Given the description of an element on the screen output the (x, y) to click on. 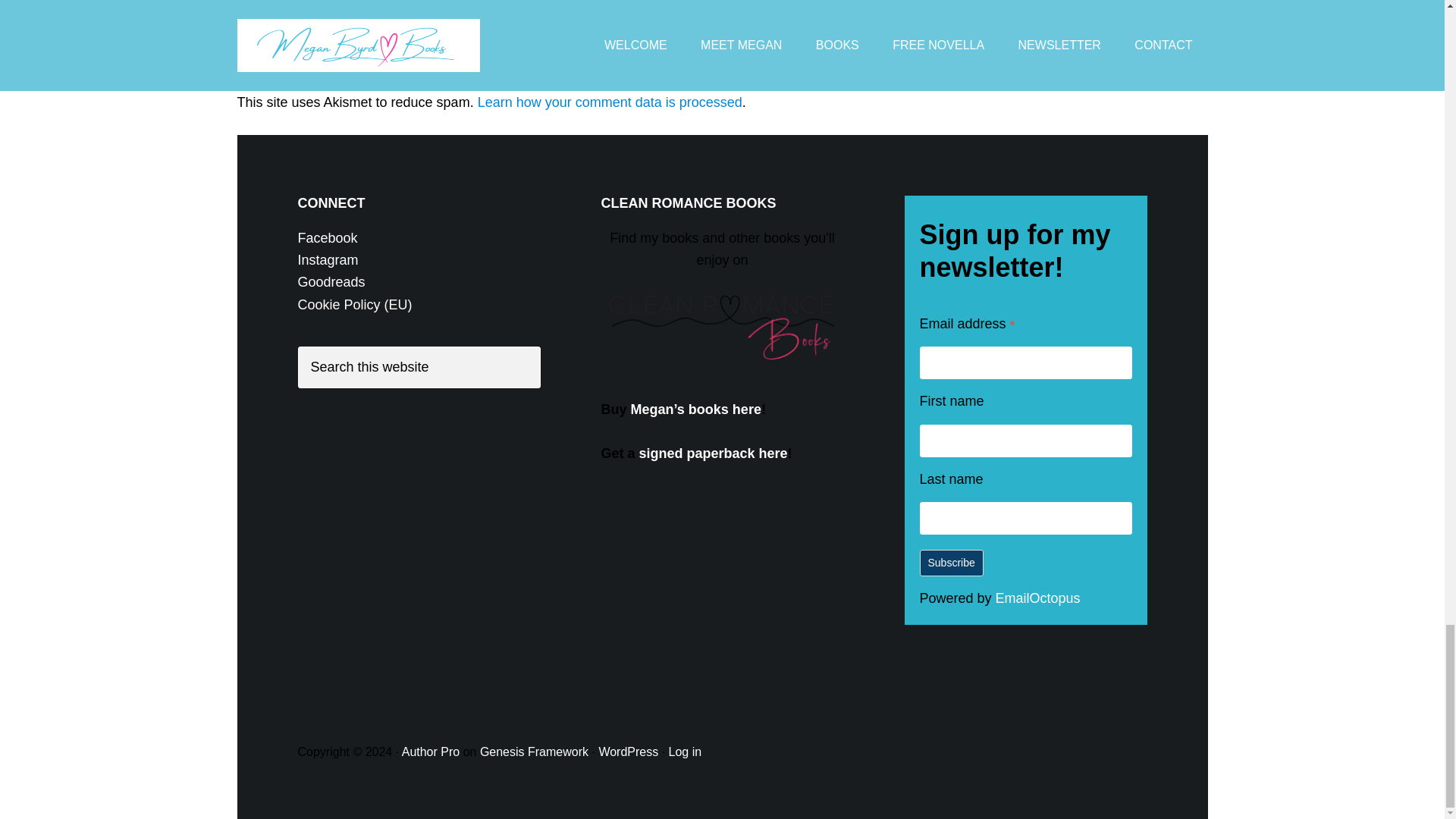
Facebook (326, 237)
Genesis Framework (534, 751)
Goodreads (331, 281)
Log in (684, 751)
Post Comment (357, 13)
Post Comment (357, 13)
Instagram (327, 259)
EmailOctopus (1037, 598)
